Given the description of an element on the screen output the (x, y) to click on. 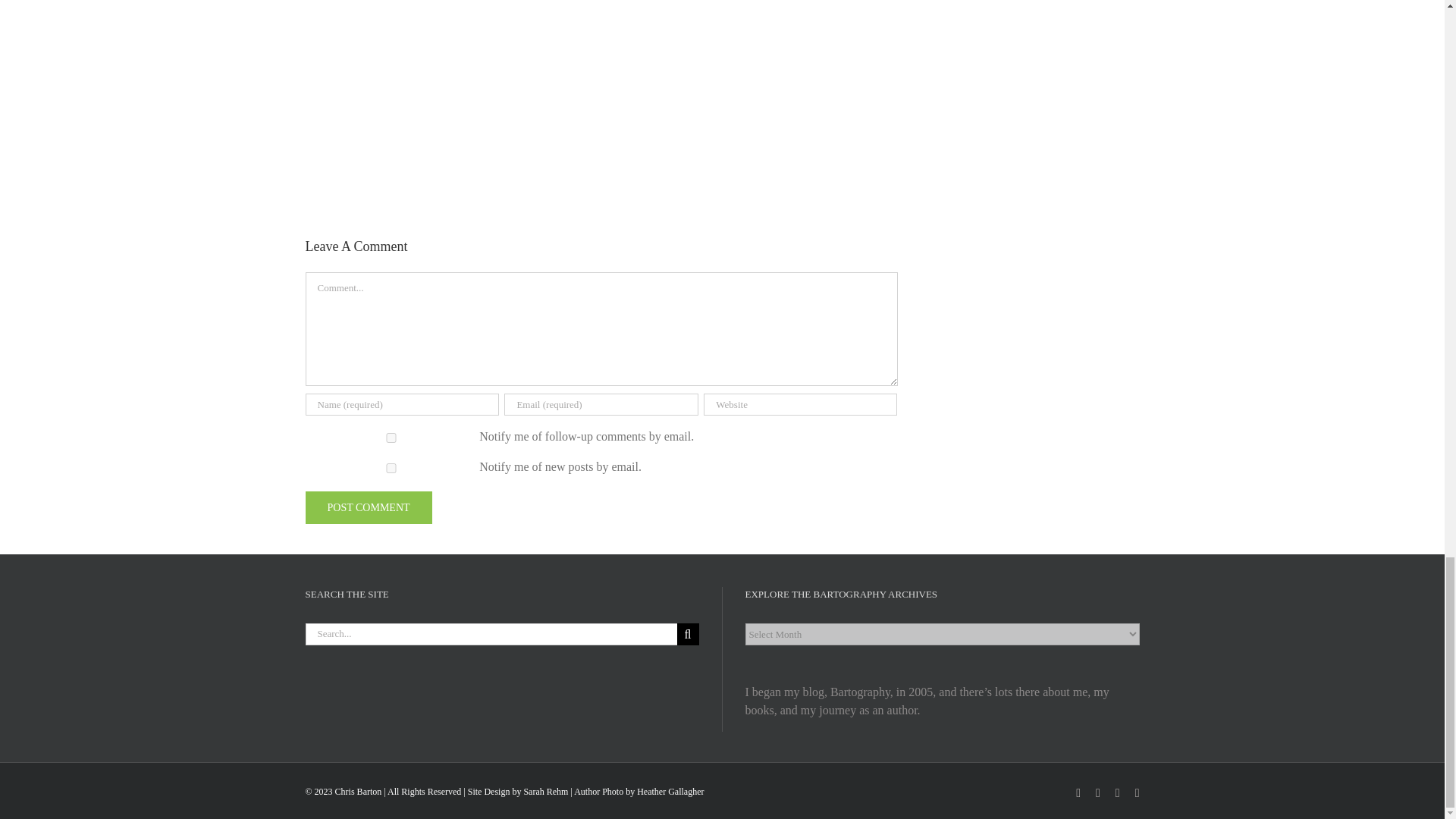
subscribe (390, 468)
Post Comment (367, 507)
subscribe (390, 438)
